Given the description of an element on the screen output the (x, y) to click on. 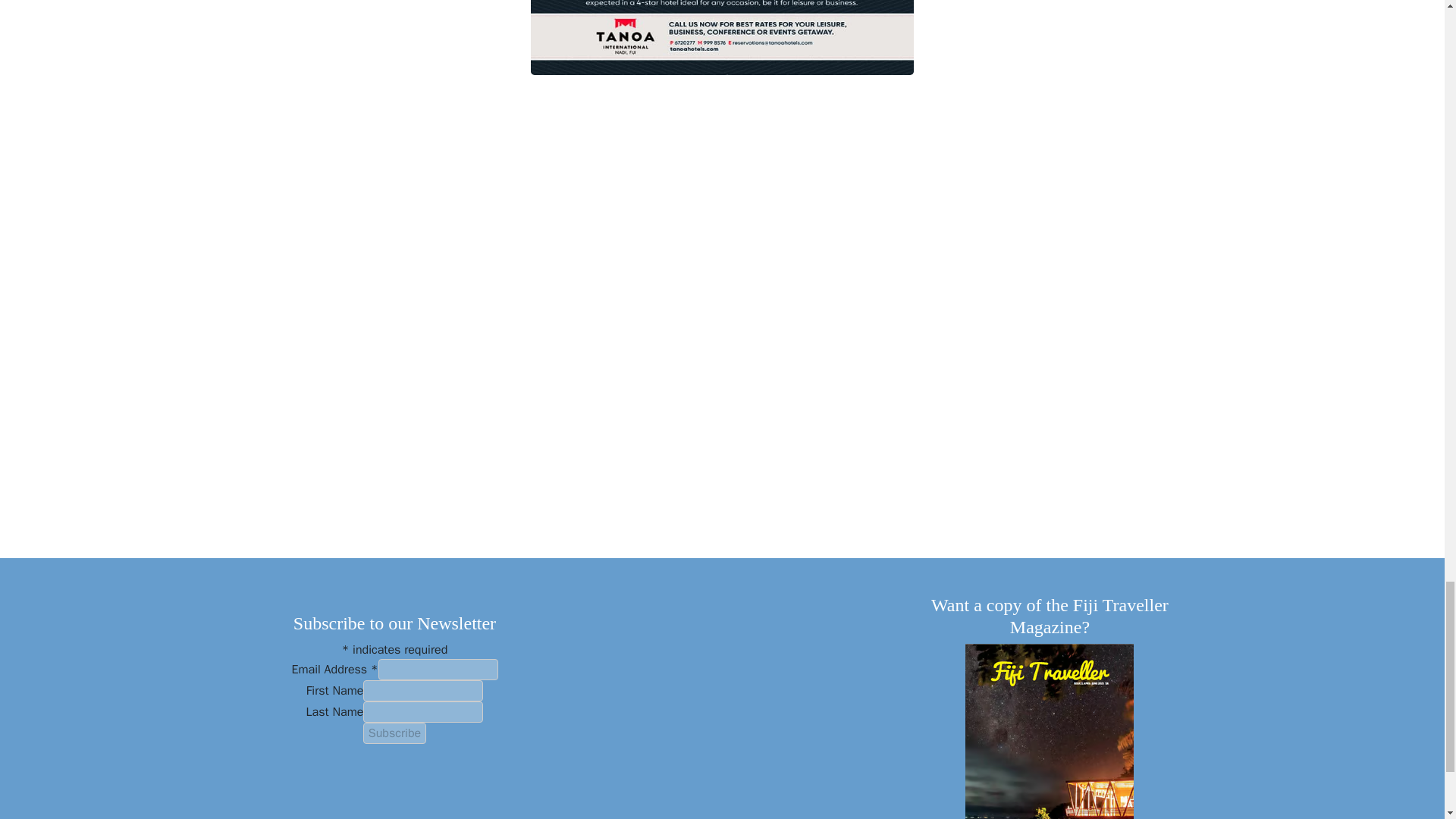
Subscribe (394, 732)
